Given the description of an element on the screen output the (x, y) to click on. 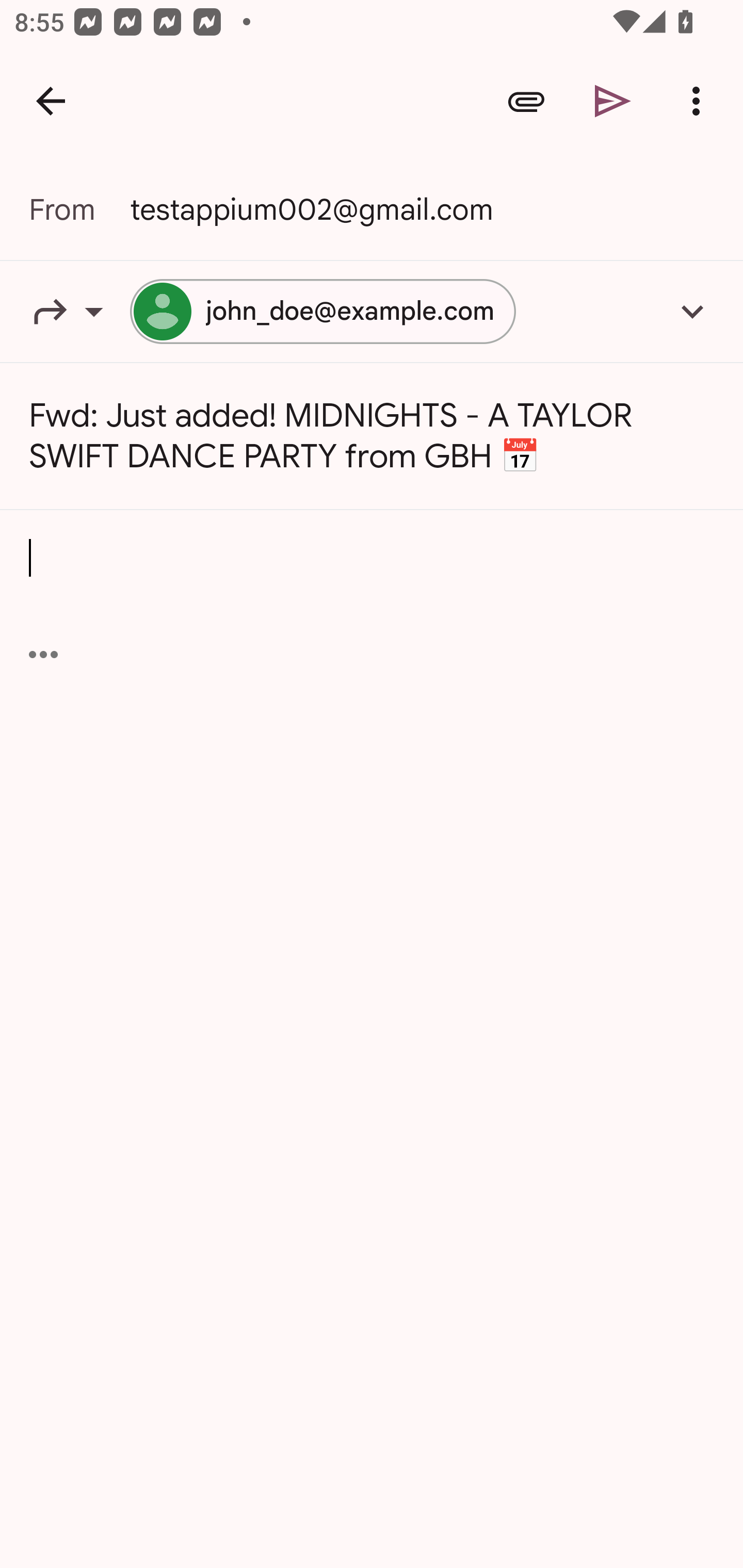
Navigate up (50, 101)
Attach file (525, 101)
Send (612, 101)
More options (699, 101)
From (79, 209)
Forward (79, 311)
Add Cc/Bcc (692, 311)
Include quoted text (43, 654)
